Given the description of an element on the screen output the (x, y) to click on. 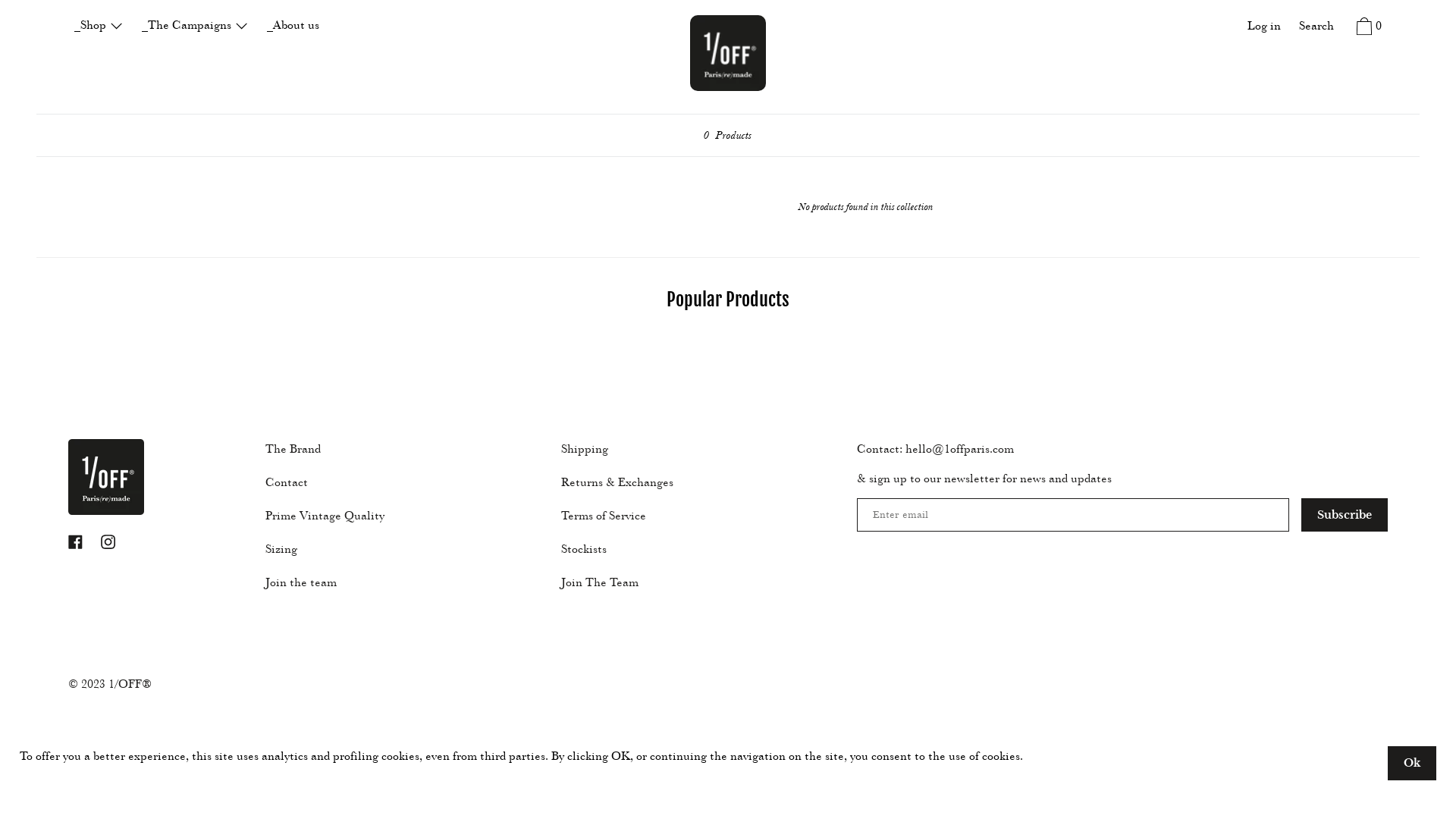
_Shop Element type: text (98, 26)
_The Campaigns Element type: text (195, 26)
Shipping Element type: text (584, 447)
0 Element type: text (1366, 28)
Prime Vintage Quality Element type: text (324, 514)
Sizing Element type: text (280, 547)
Facebook Element type: text (75, 541)
_About us Element type: text (292, 26)
Returns & Exchanges Element type: text (616, 481)
Join The Team Element type: text (599, 581)
Subscribe Element type: text (1344, 514)
Instagram Element type: text (107, 541)
Search Element type: text (1316, 26)
Contact Element type: text (286, 481)
Ok Element type: text (1411, 762)
Stockists Element type: text (583, 547)
Join the team Element type: text (300, 581)
Terms of Service Element type: text (603, 514)
Log in Element type: text (1263, 26)
The Brand Element type: text (292, 447)
